Given the description of an element on the screen output the (x, y) to click on. 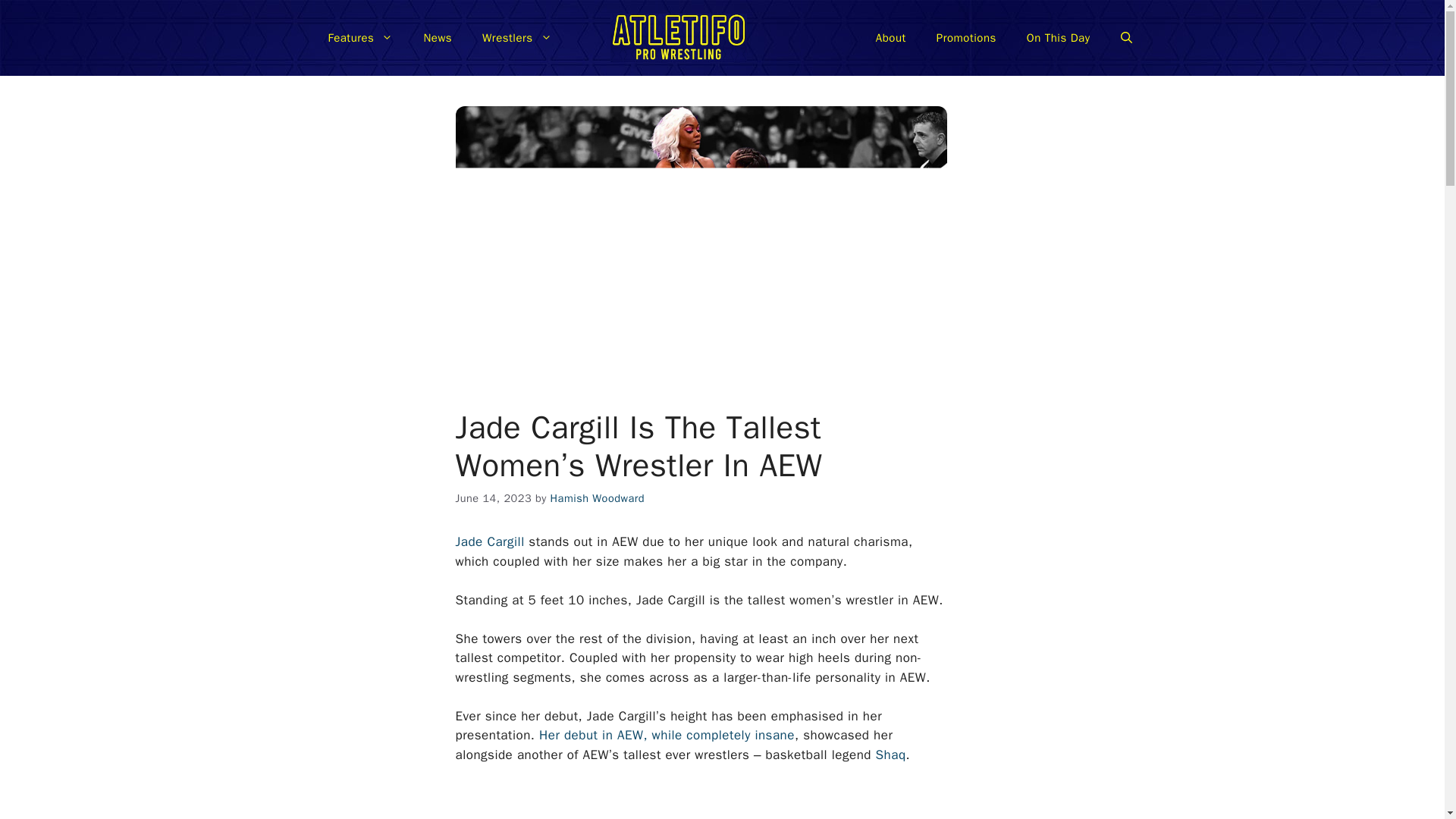
Her debut in AEW, while completely insane (666, 734)
News (437, 37)
On This Day (1058, 37)
Hamish Woodward (597, 498)
Wrestlers (517, 37)
About (890, 37)
Shaq (890, 754)
Promotions (966, 37)
View all posts by Hamish Woodward (597, 498)
Features (360, 37)
